Given the description of an element on the screen output the (x, y) to click on. 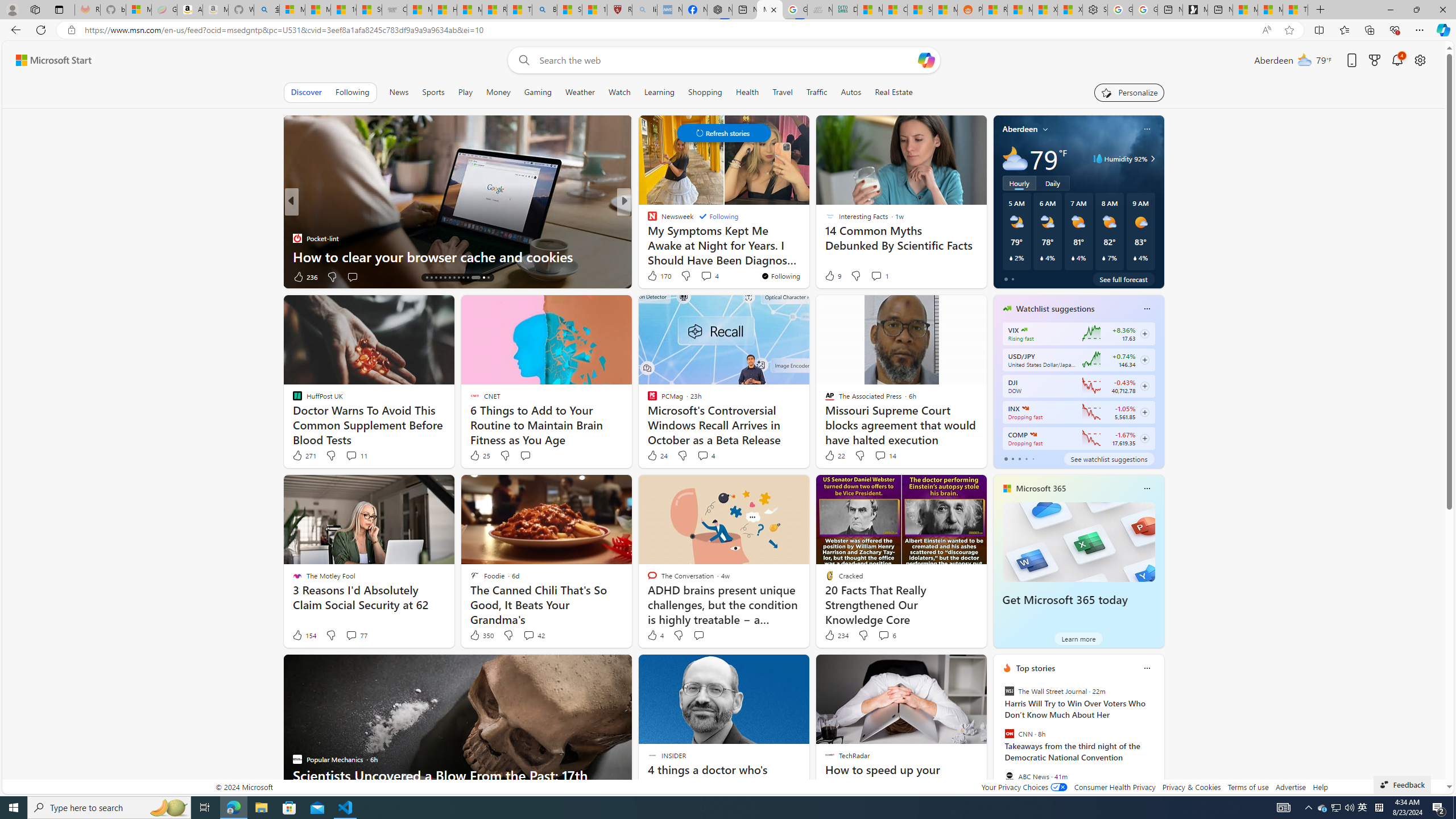
View comments 14 Comment (885, 455)
NASDAQ (1032, 434)
View comments 18 Comment (6, 276)
Humidity 92% (1150, 158)
How I Got Rid of Microsoft Edge's Unnecessary Features (443, 9)
Watch (619, 92)
Travel (782, 92)
MSN (944, 9)
Class: weather-arrow-glyph (1152, 158)
ABC News (1008, 775)
